Given the description of an element on the screen output the (x, y) to click on. 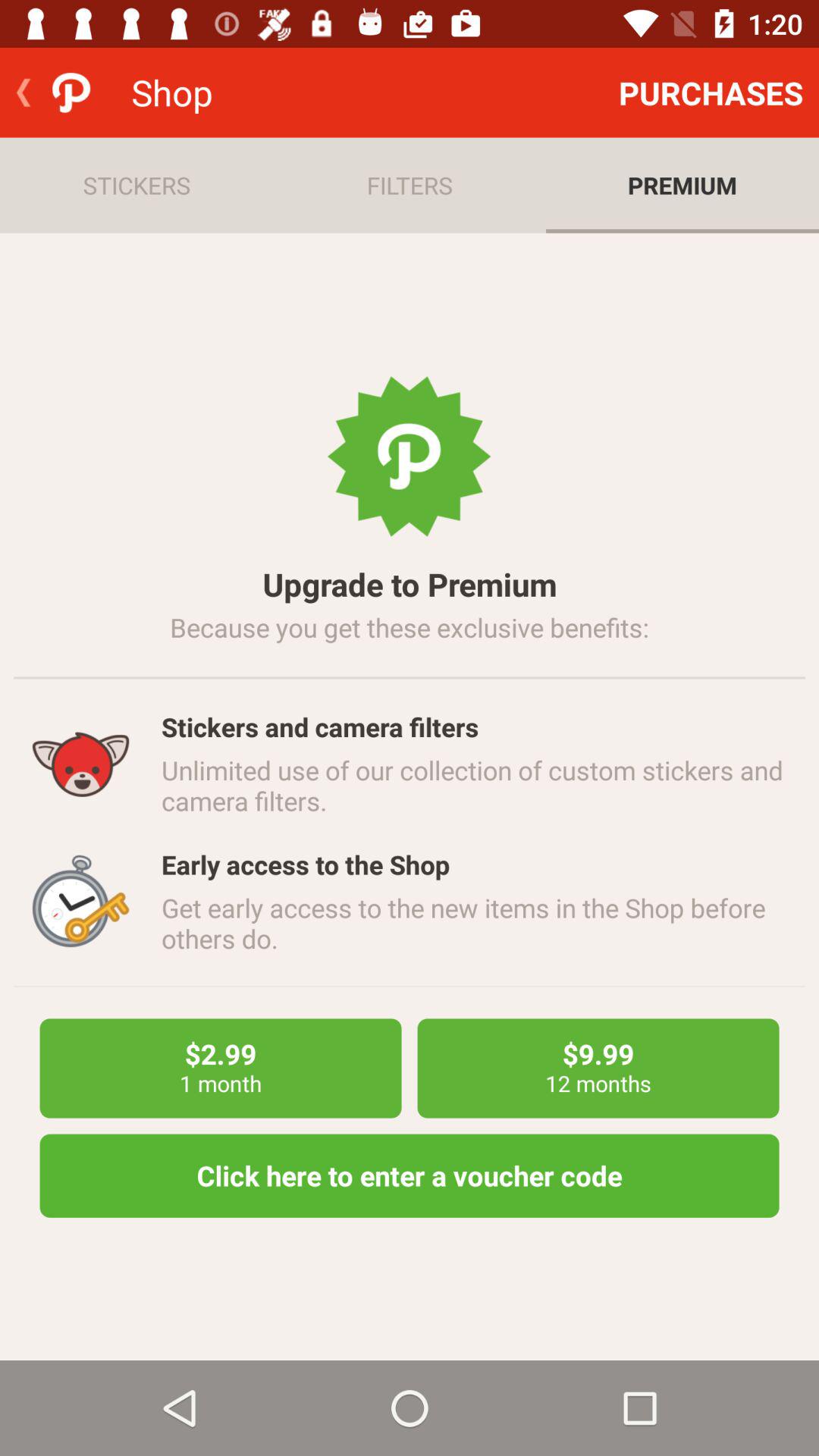
launch item below 2 99 1 item (409, 1175)
